Given the description of an element on the screen output the (x, y) to click on. 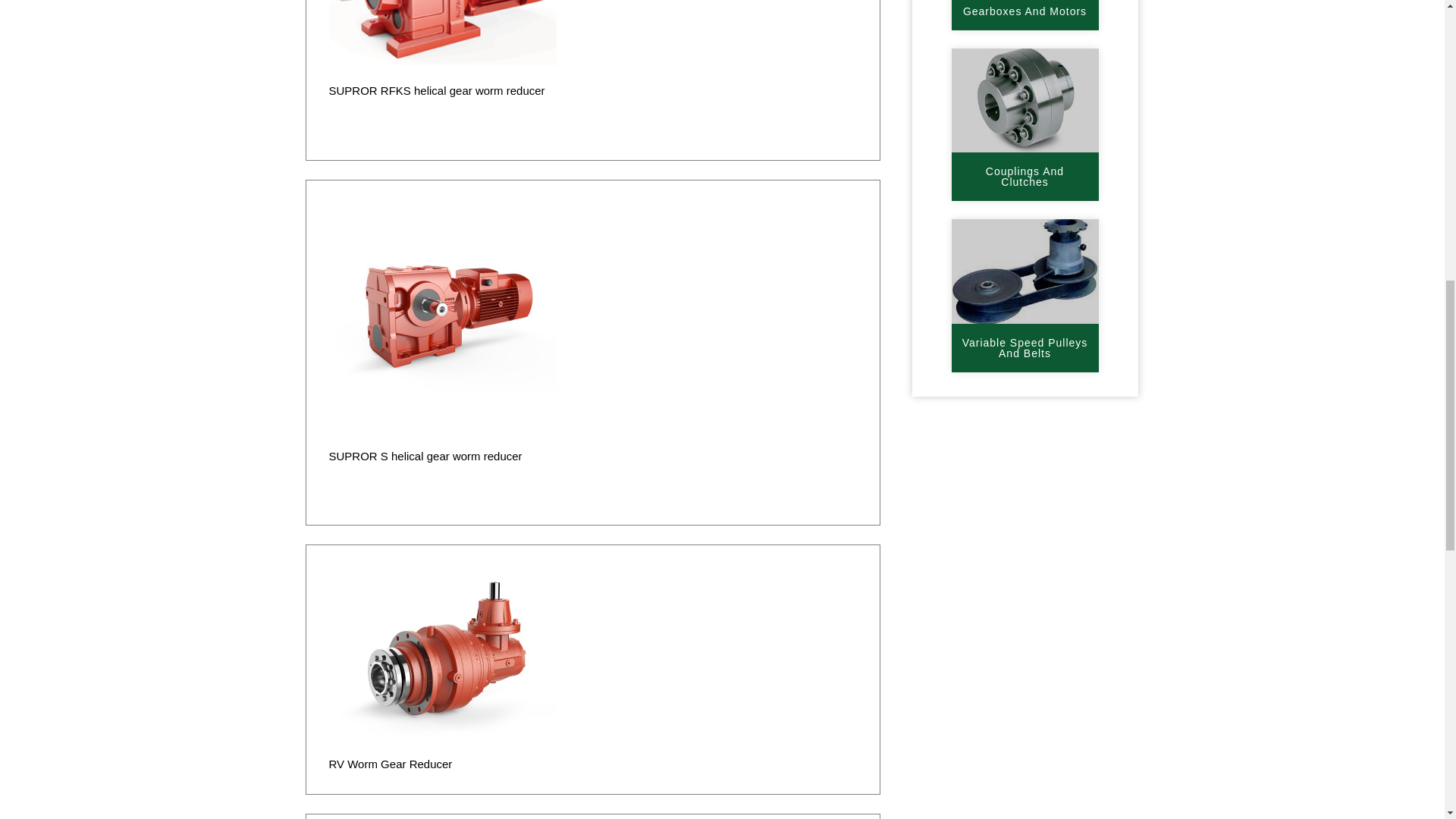
Gearboxes And Motors (1024, 15)
Variable Speed Pulleys And Belts (1024, 347)
Couplings And Clutches (1024, 176)
